Given the description of an element on the screen output the (x, y) to click on. 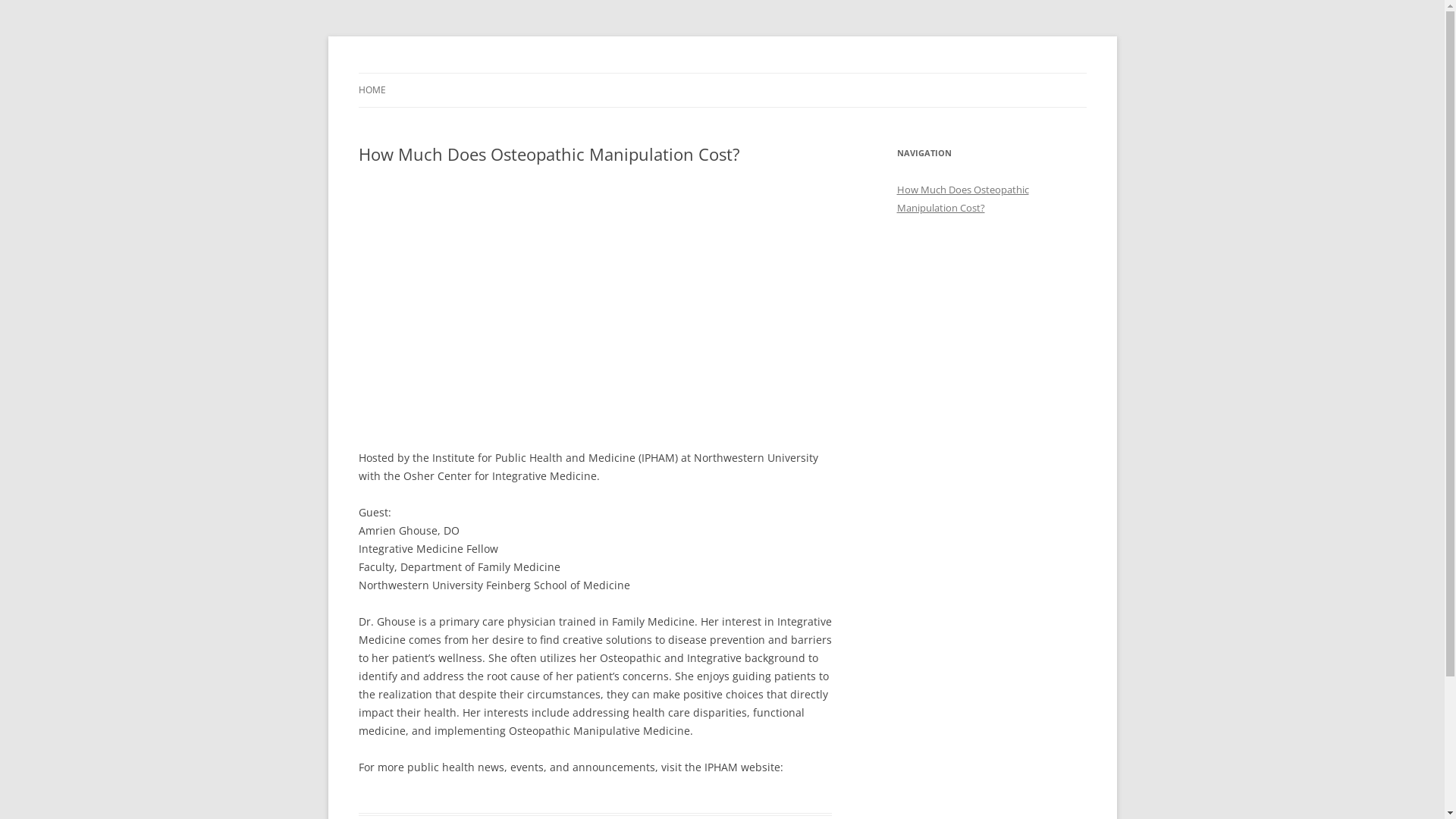
Skip to content Element type: text (721, 72)
How Much Does Osteopathic Manipulation Cost? Element type: text (962, 198)
HOME Element type: text (371, 89)
Chickenpox Vaccine For Adults Element type: text (507, 72)
